Given the description of an element on the screen output the (x, y) to click on. 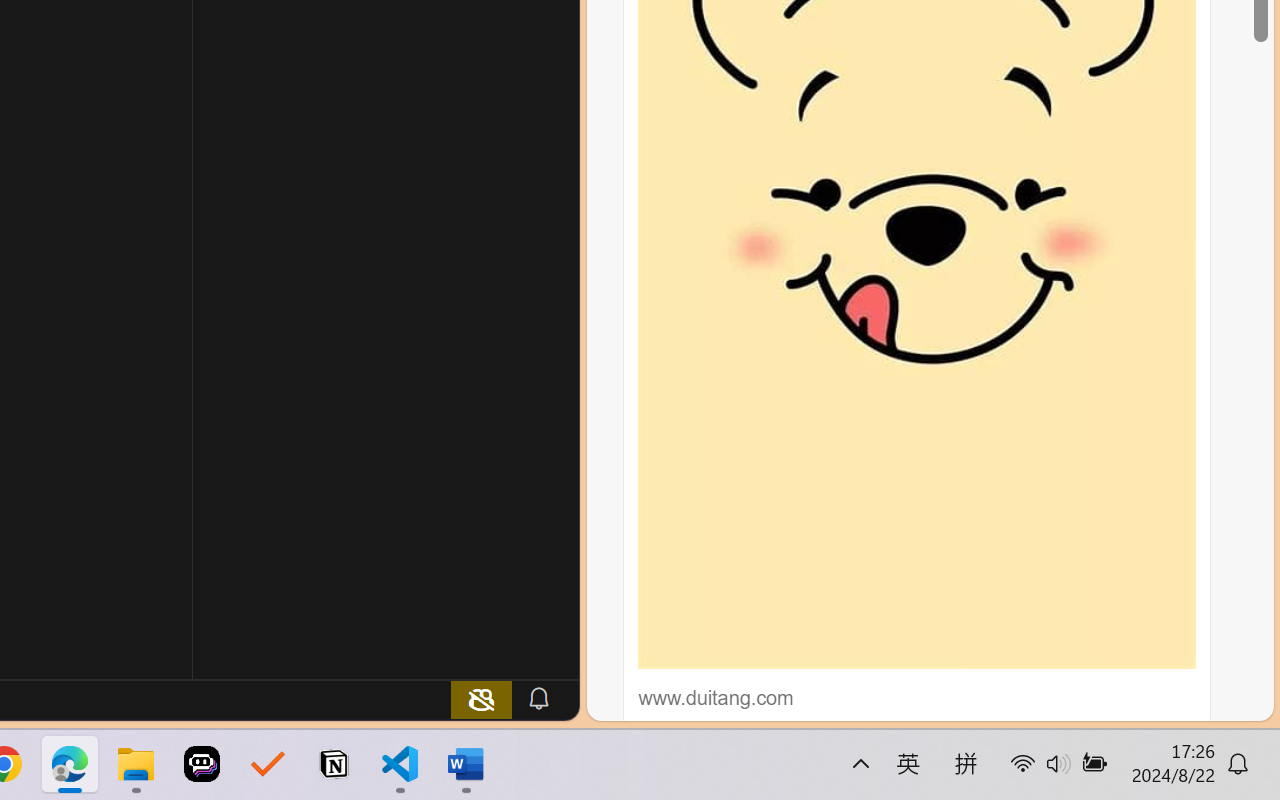
copilot-notconnected, Copilot error (click for details) (481, 698)
